Given the description of an element on the screen output the (x, y) to click on. 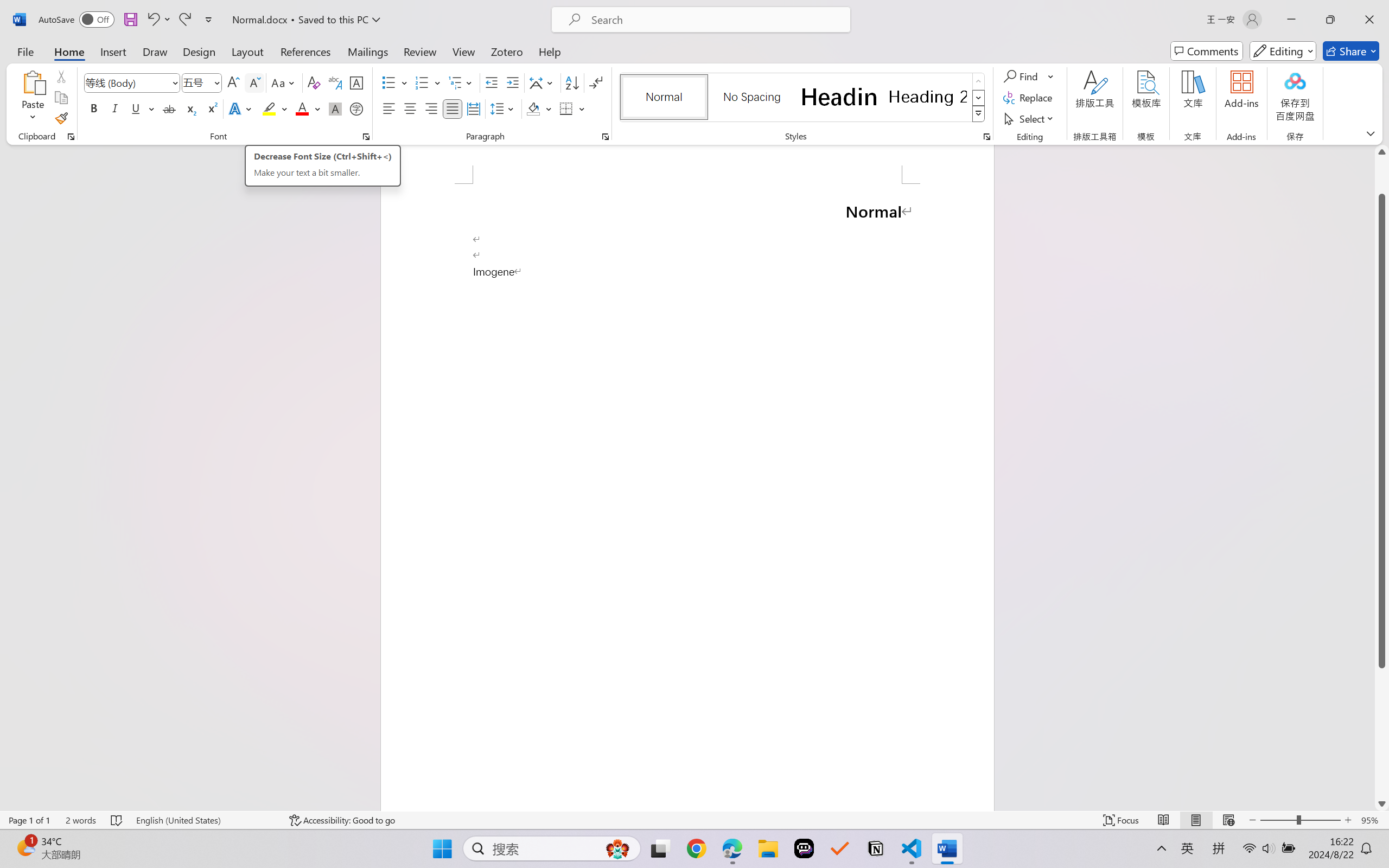
Page 1 content (687, 497)
Character Border (356, 82)
Font Color RGB(255, 0, 0) (302, 108)
Change Case (284, 82)
Page down (1382, 732)
Class: MsoCommandBar (694, 819)
Office Clipboard... (70, 136)
Undo Typing (158, 19)
Sort... (571, 82)
